Given the description of an element on the screen output the (x, y) to click on. 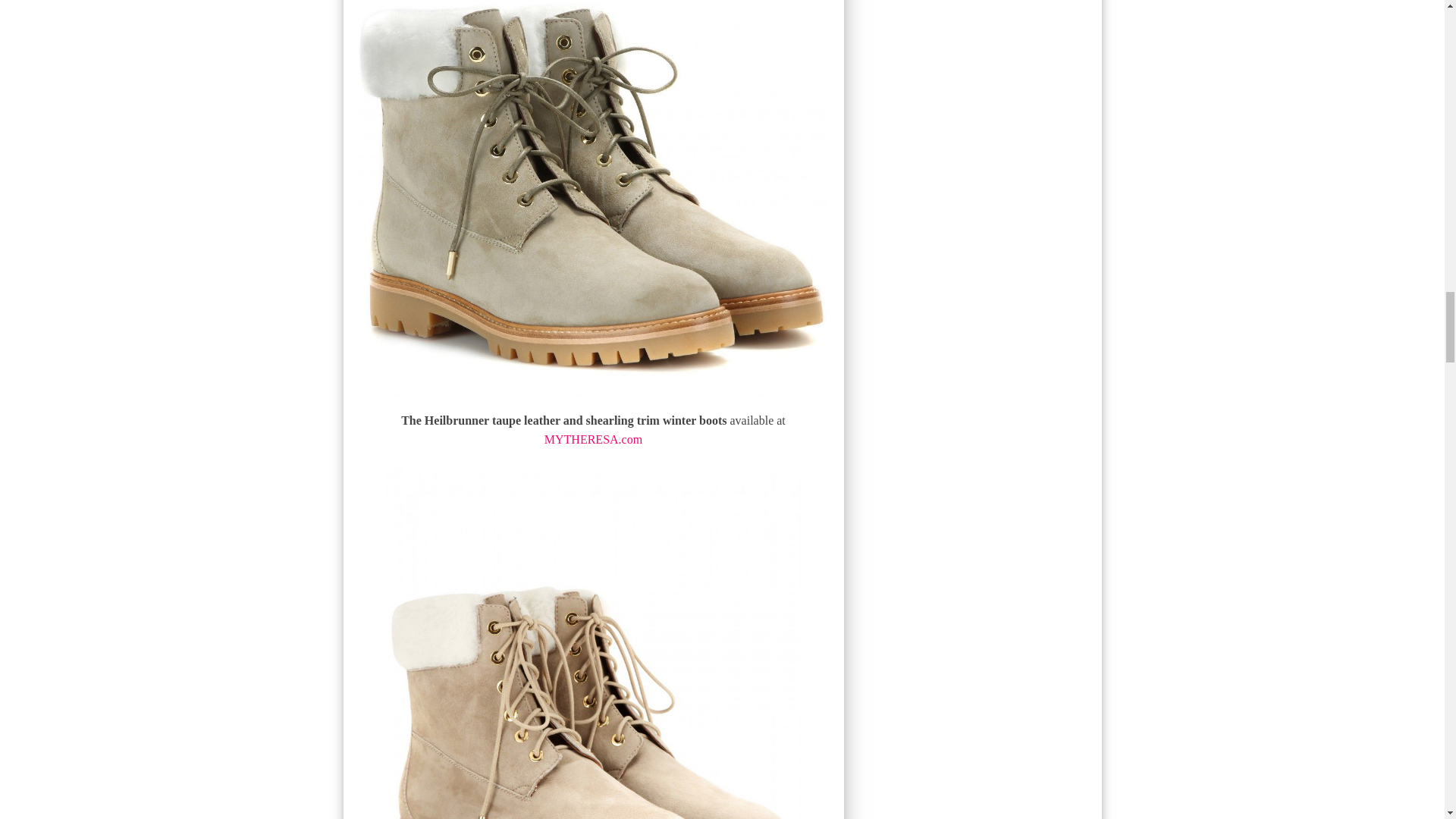
MYTHERESA.com (593, 439)
